Given the description of an element on the screen output the (x, y) to click on. 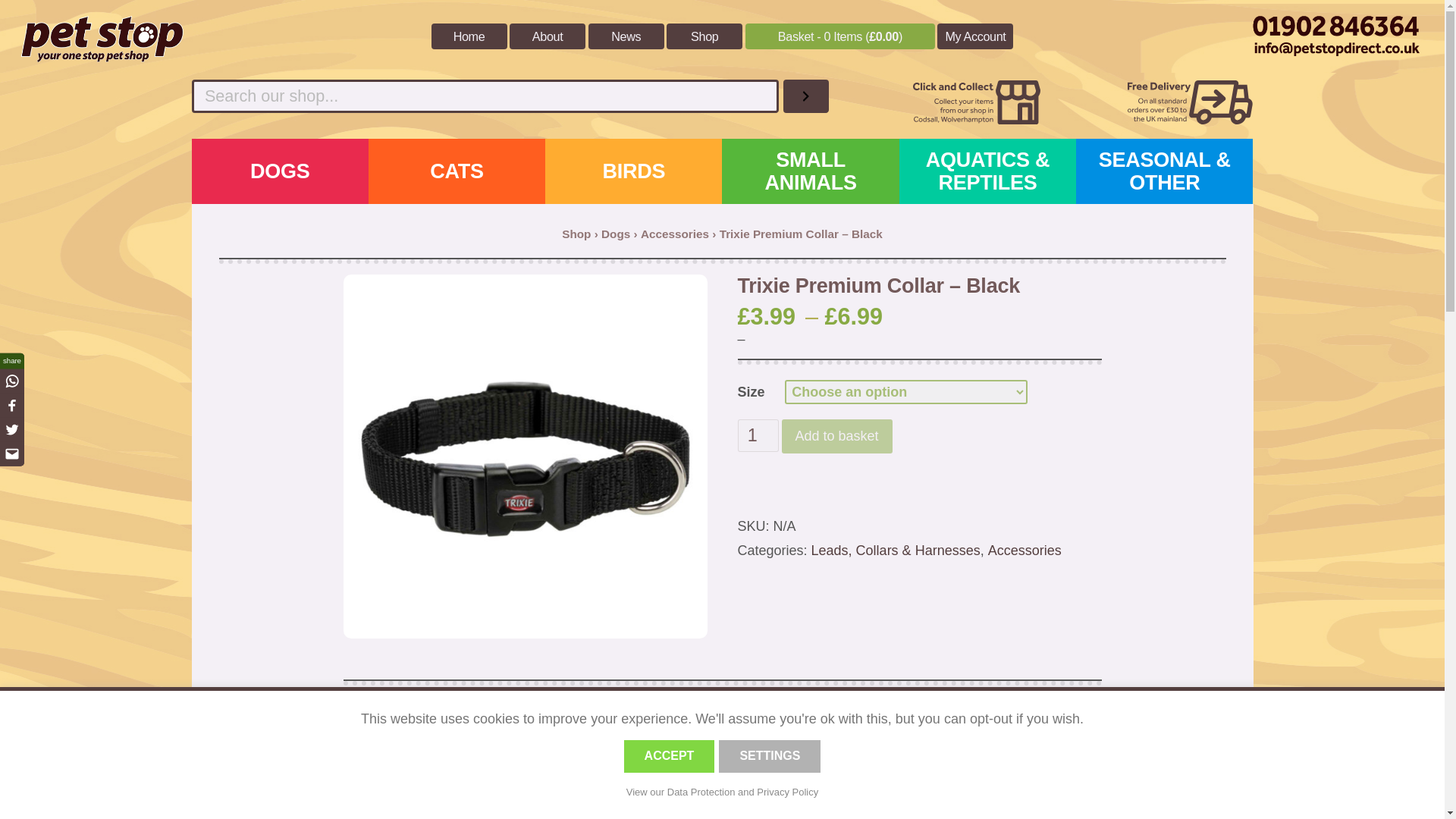
SMALL ANIMALS (810, 170)
1 (756, 435)
DOGS (279, 170)
Shop (576, 233)
About (547, 36)
Shop (704, 36)
BLACK COLLAR SIZE S (524, 456)
Home (468, 36)
My Account (975, 36)
BIRDS (633, 170)
PayPal (918, 497)
News (625, 36)
Accessories (674, 233)
CATS (456, 170)
Dogs (615, 233)
